Given the description of an element on the screen output the (x, y) to click on. 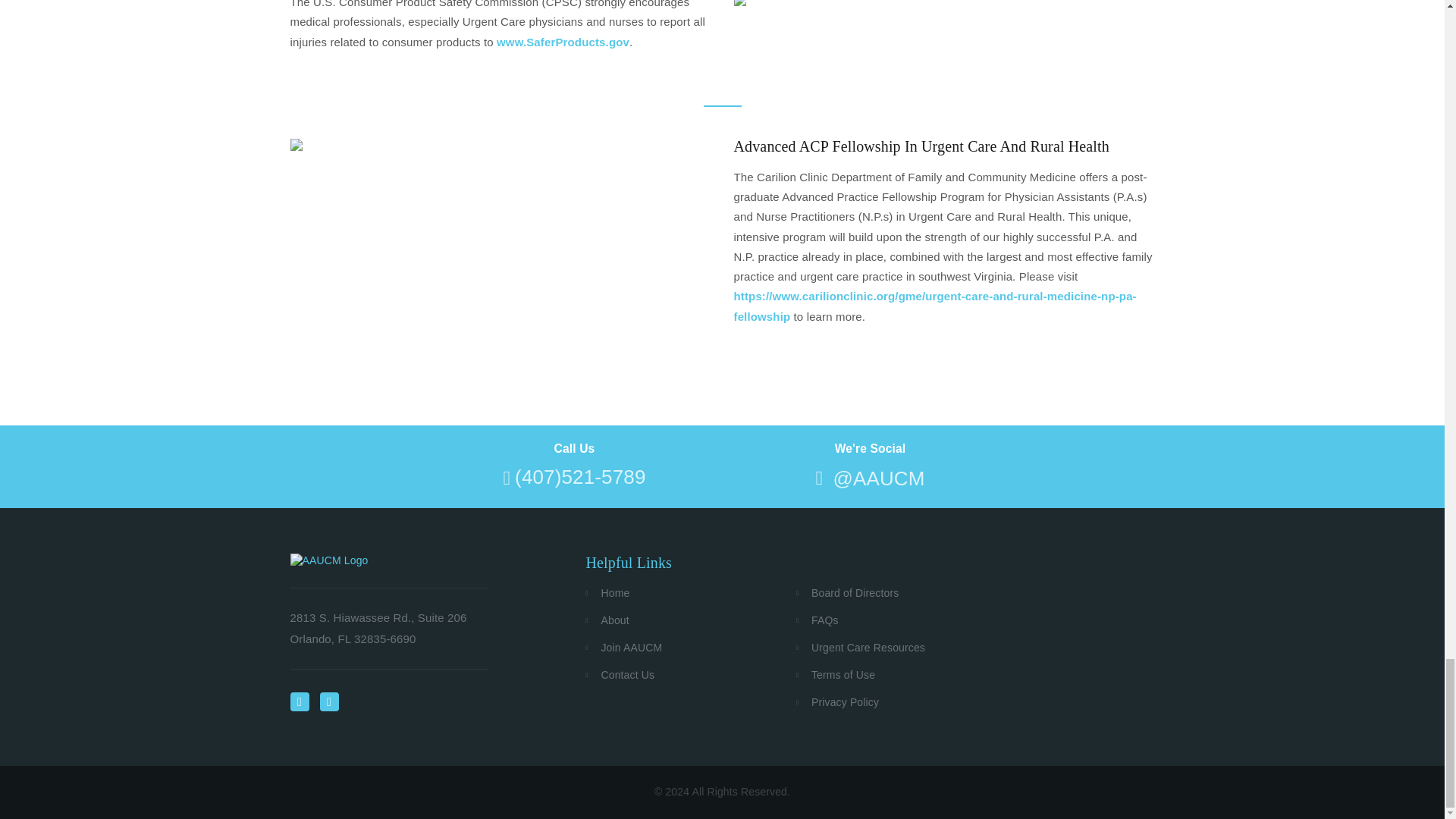
Contact Us (627, 675)
www.SaferProducts.gov (562, 42)
About (613, 620)
FAQs (825, 620)
Home (614, 593)
Board of Directors (855, 593)
Join AAUCM (630, 648)
